Given the description of an element on the screen output the (x, y) to click on. 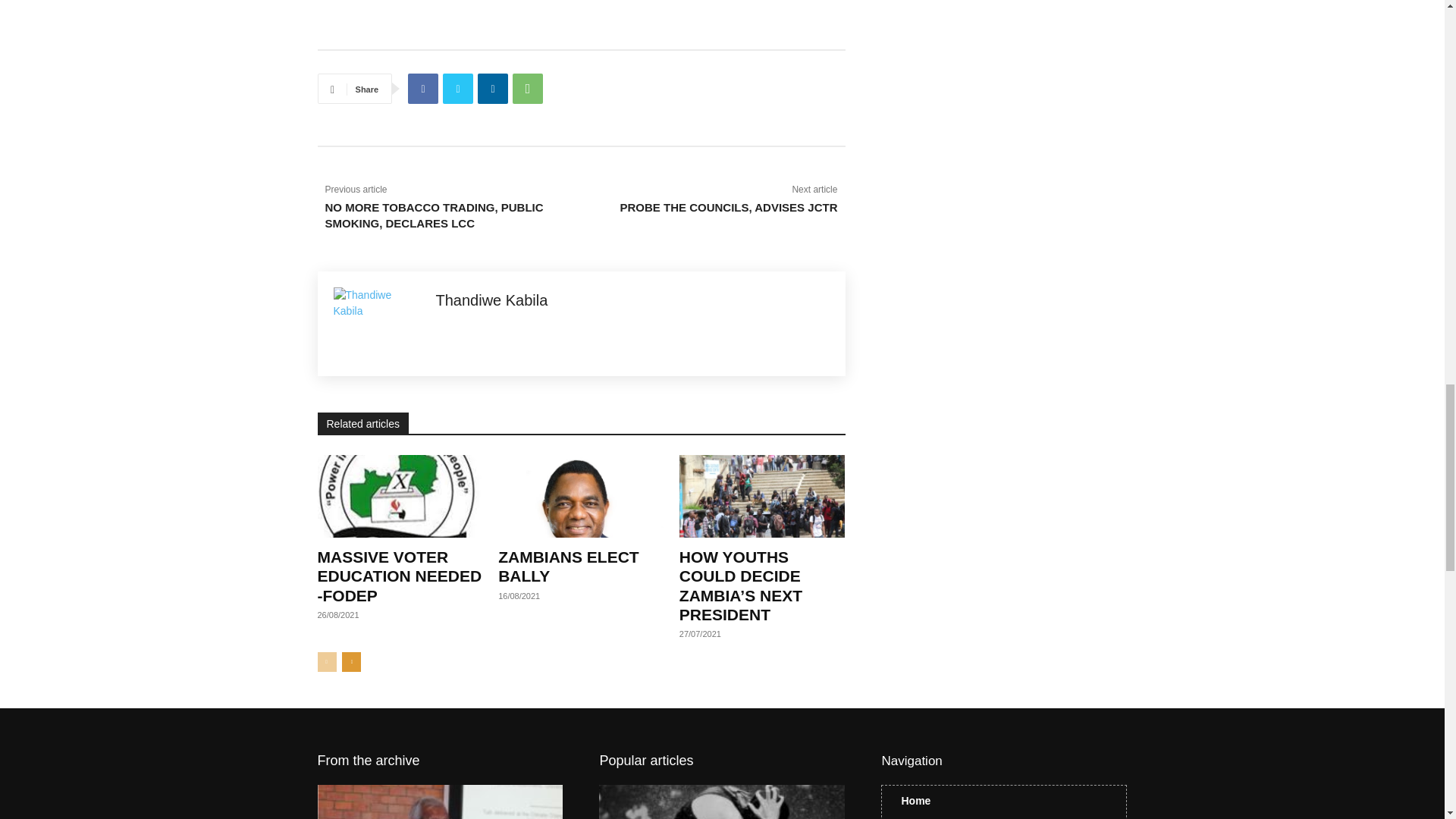
Facebook (422, 88)
